Given the description of an element on the screen output the (x, y) to click on. 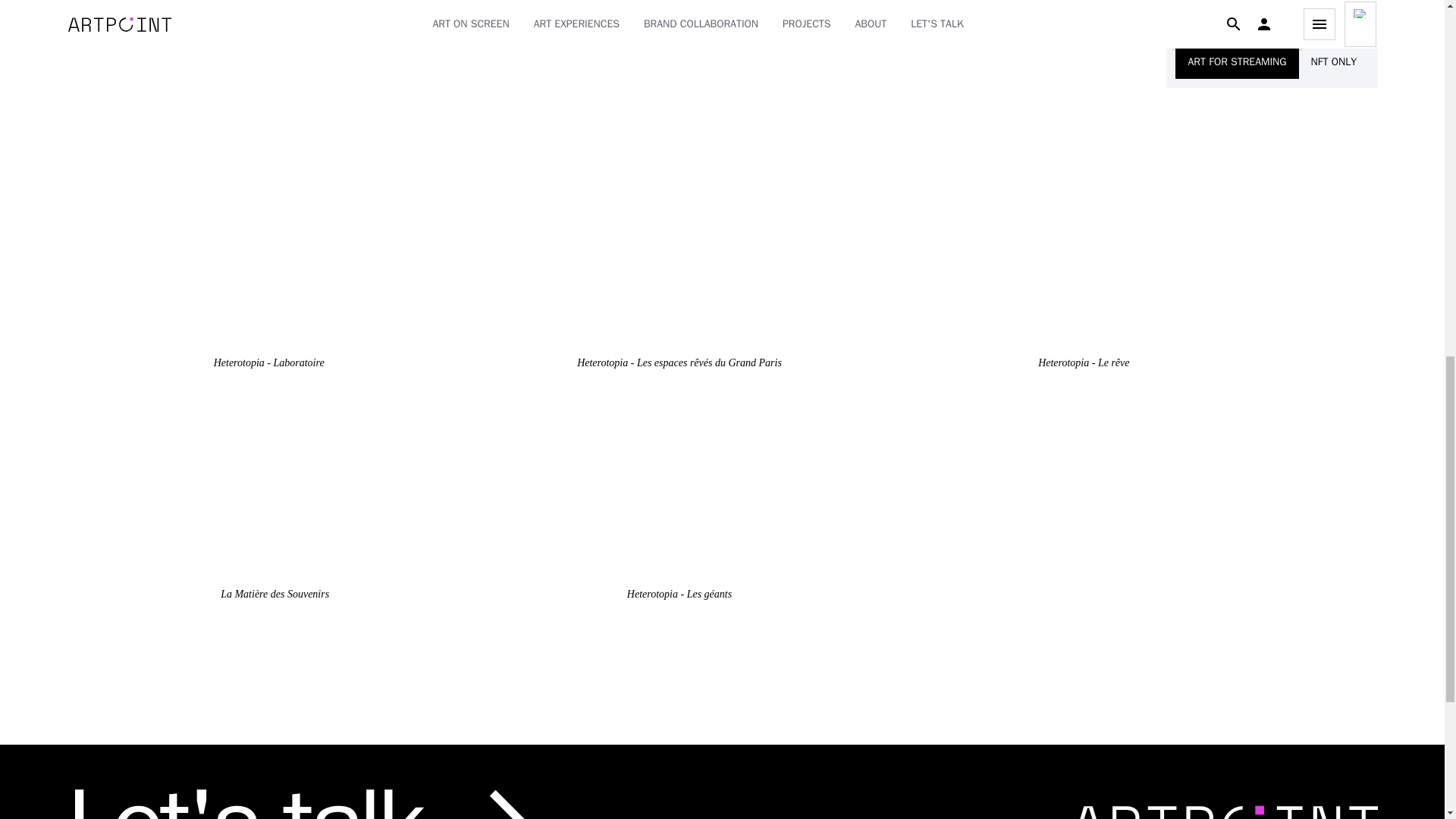
Heterotopia - Laboratoire (268, 285)
